Given the description of an element on the screen output the (x, y) to click on. 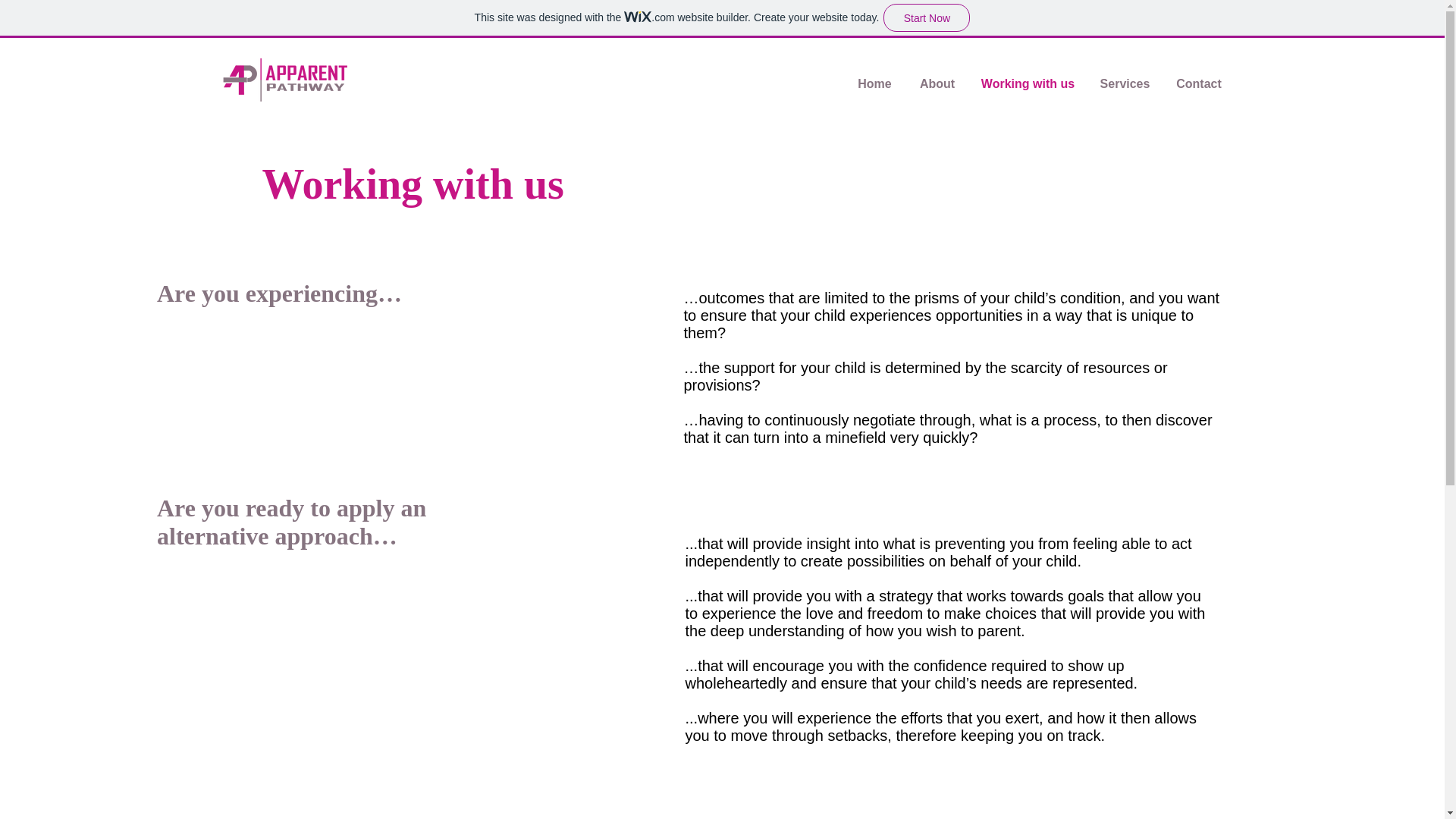
Working with us (1028, 84)
Home (874, 84)
Contact (1198, 84)
About (936, 84)
Final transparent AP Full logo.png (284, 79)
Services (1125, 84)
